Given the description of an element on the screen output the (x, y) to click on. 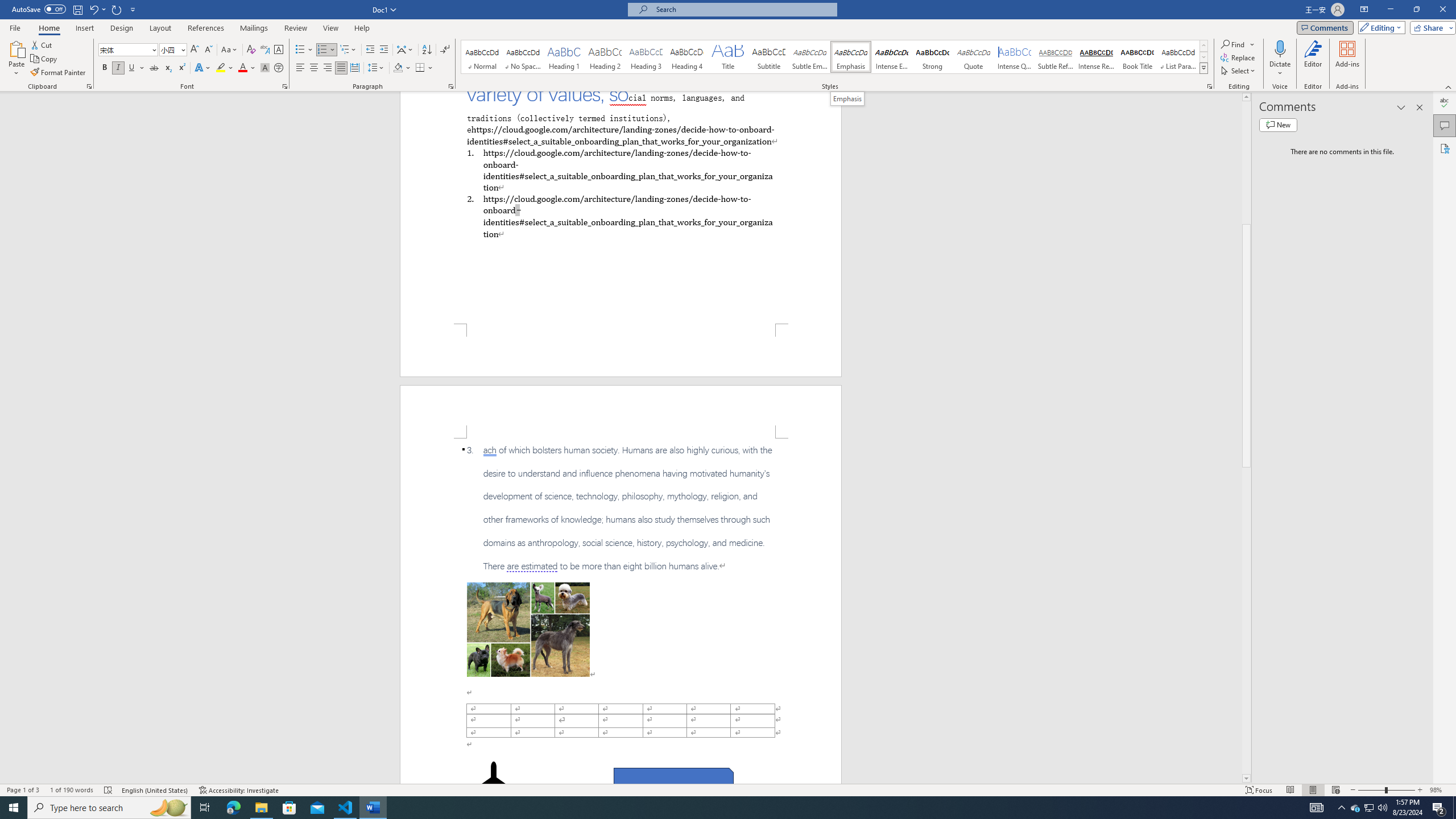
Intense Reference (1095, 56)
Emphasis (846, 98)
1. (620, 169)
Heading 3 (646, 56)
Page 1 content (620, 207)
